Given the description of an element on the screen output the (x, y) to click on. 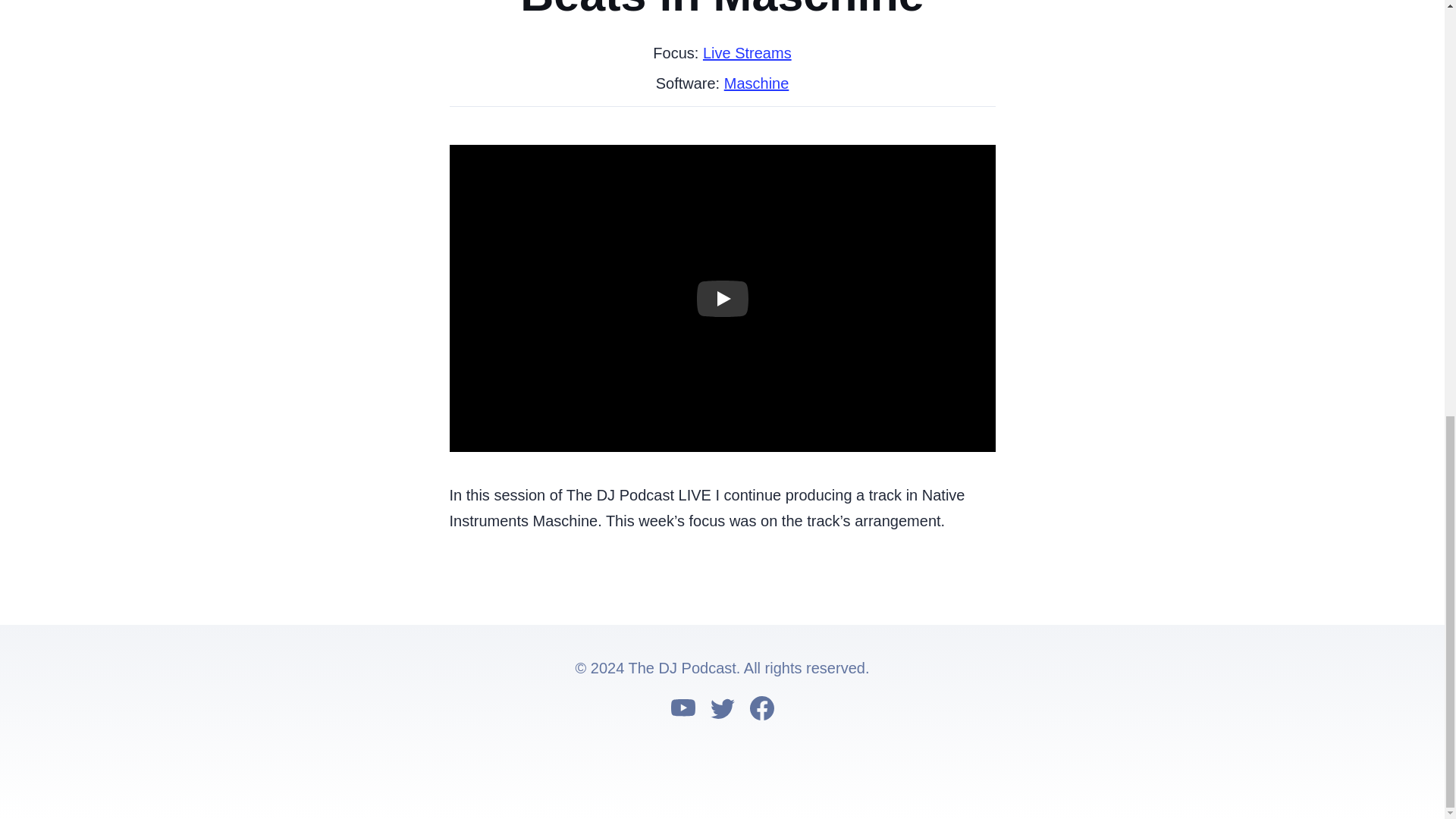
Maschine (756, 83)
Live Streams (747, 53)
